Given the description of an element on the screen output the (x, y) to click on. 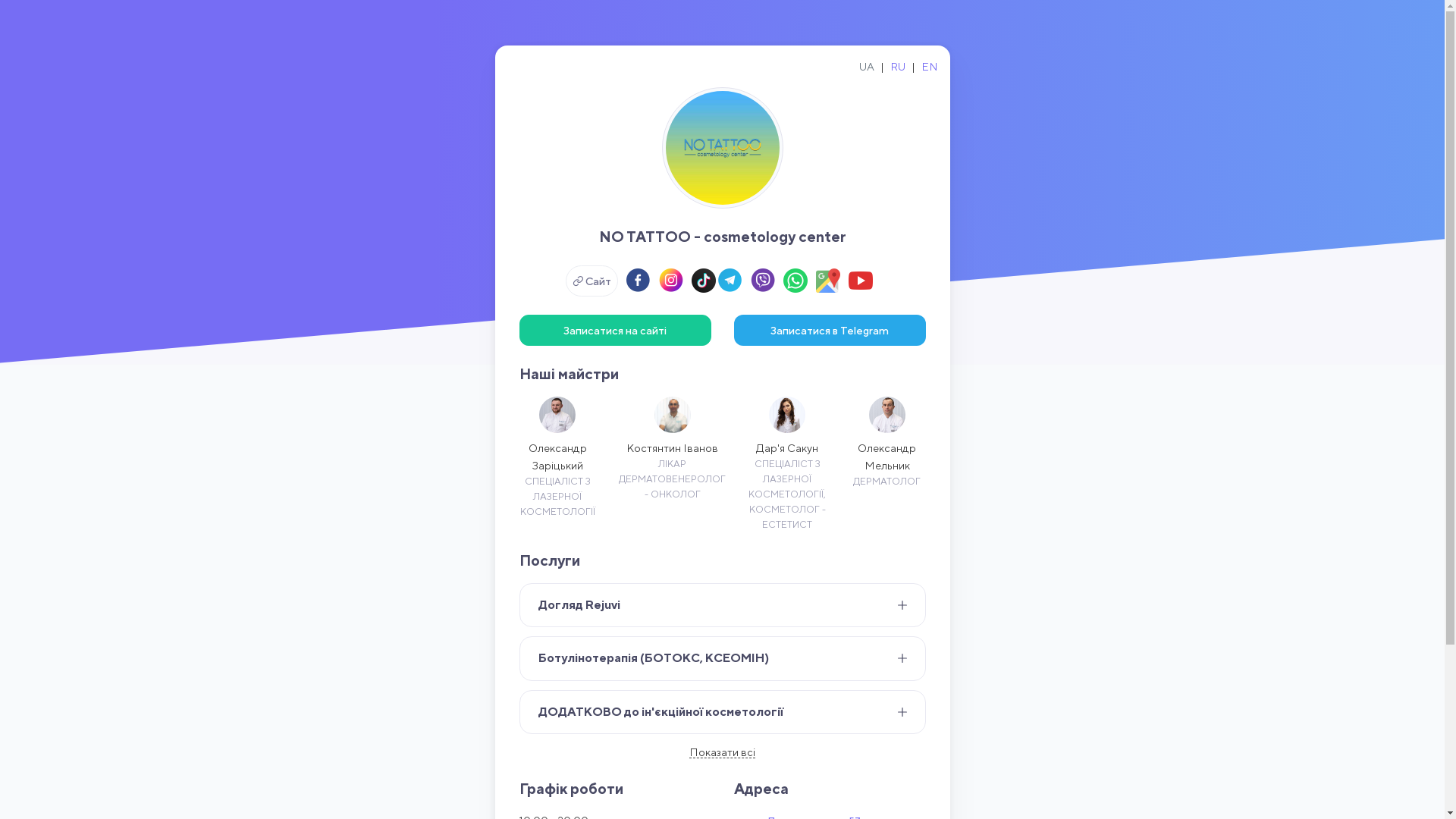
0936507777 Element type: text (551, 719)
RU Element type: text (897, 66)
0666507777 Element type: text (551, 698)
EN Element type: text (928, 66)
UA Element type: text (865, 66)
0963707777 Element type: text (550, 740)
